Given the description of an element on the screen output the (x, y) to click on. 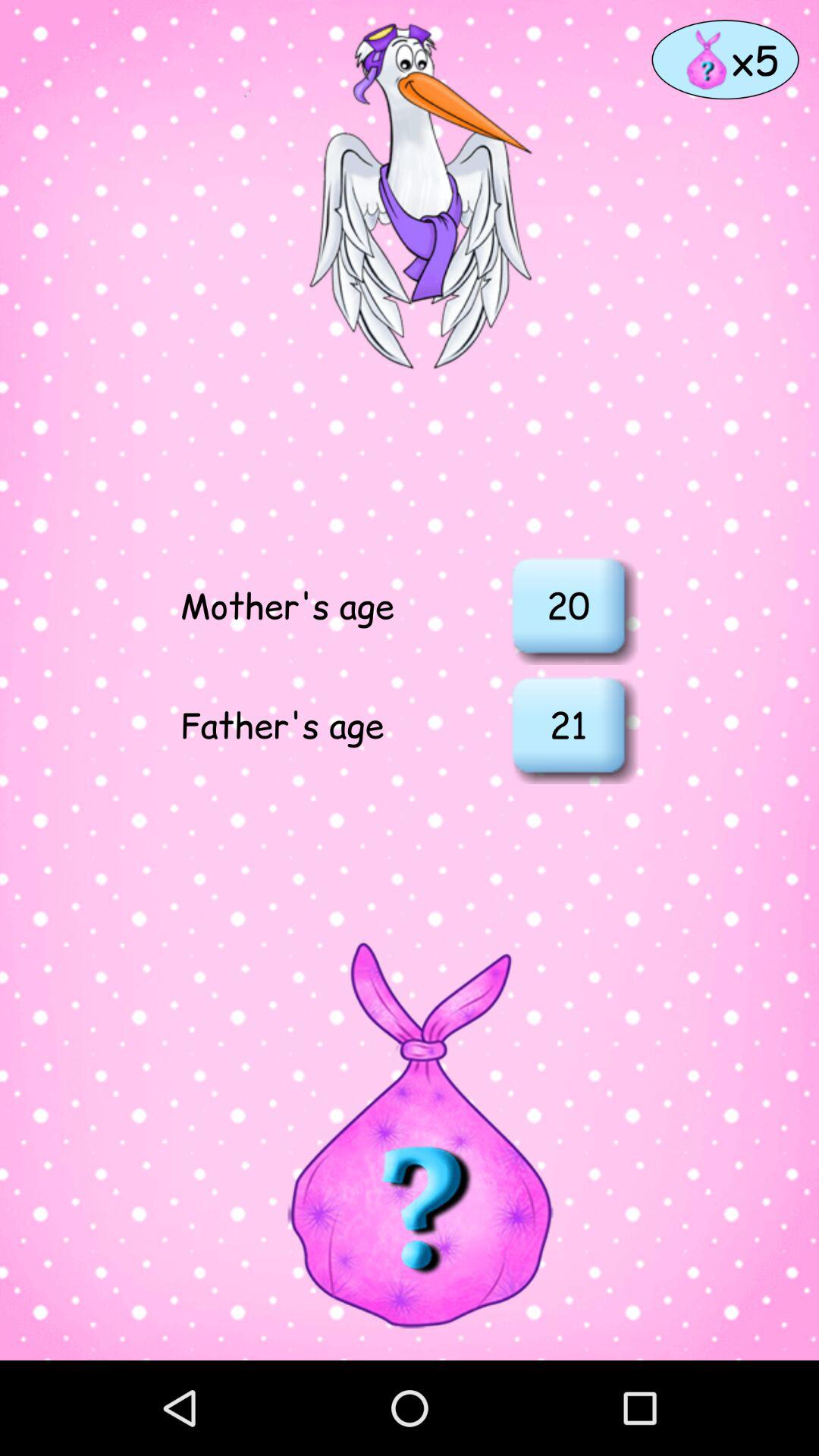
turn on item above the 21 icon (568, 604)
